Given the description of an element on the screen output the (x, y) to click on. 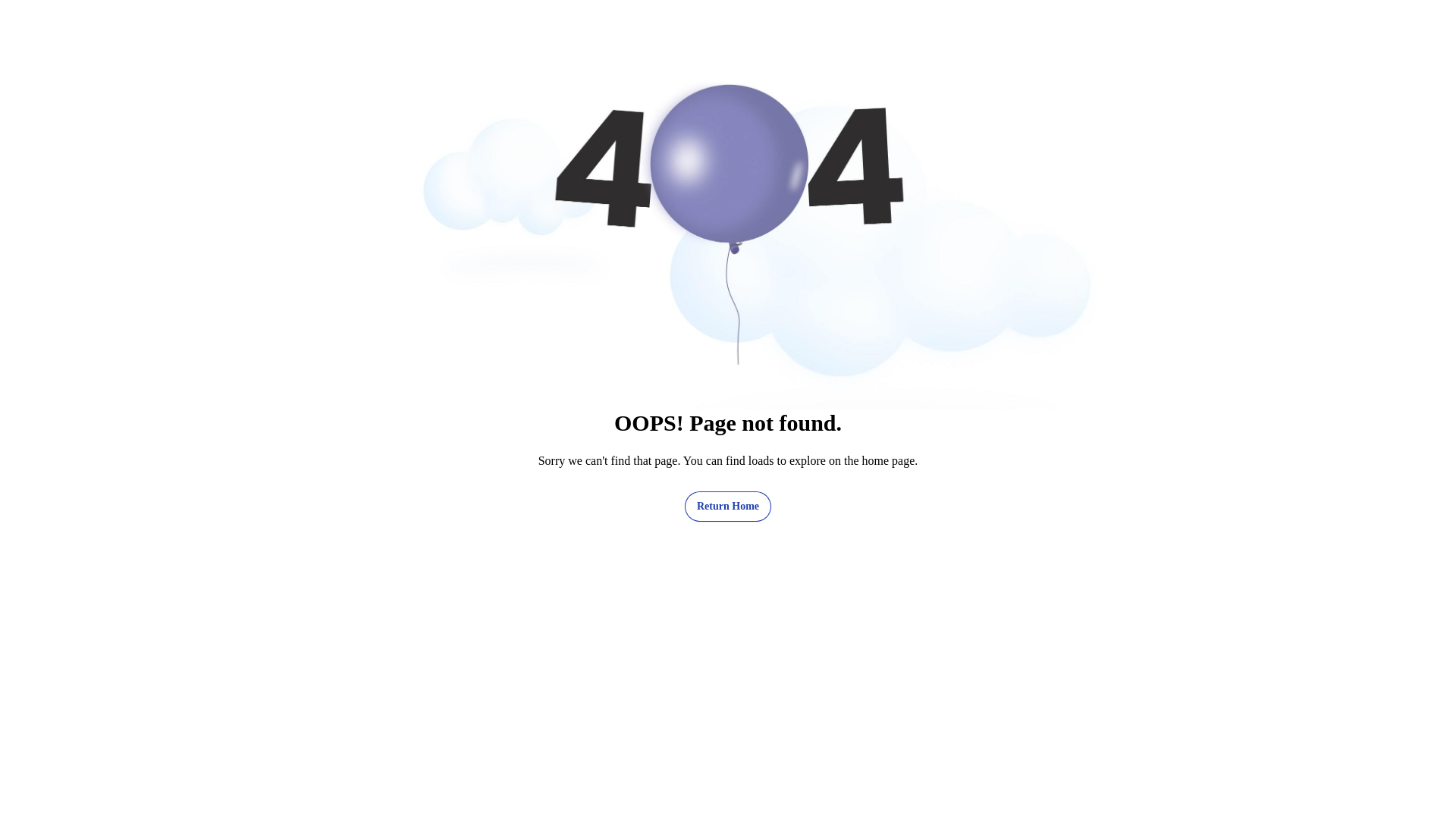
Return Home (727, 506)
